Given the description of an element on the screen output the (x, y) to click on. 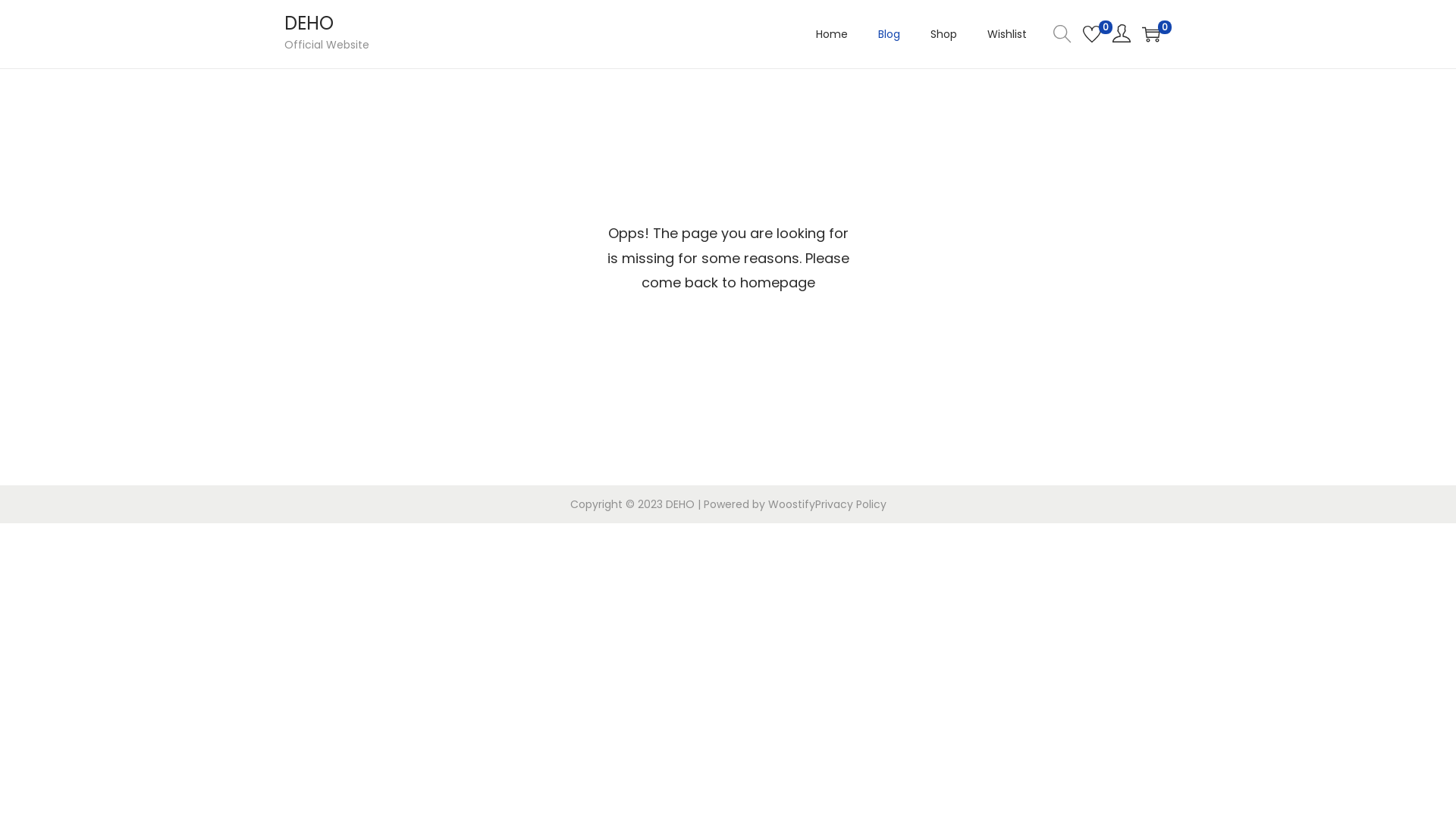
Home Element type: text (831, 34)
Search Element type: text (955, 428)
Blog Element type: text (889, 34)
Privacy Policy Element type: text (849, 503)
0 Element type: text (1151, 34)
Shop Element type: text (943, 34)
0 Element type: text (1091, 34)
DEHO Element type: text (308, 22)
Skip to navigation Element type: text (283, 33)
Woostify Element type: text (790, 503)
Wishlist Element type: text (1006, 34)
